Given the description of an element on the screen output the (x, y) to click on. 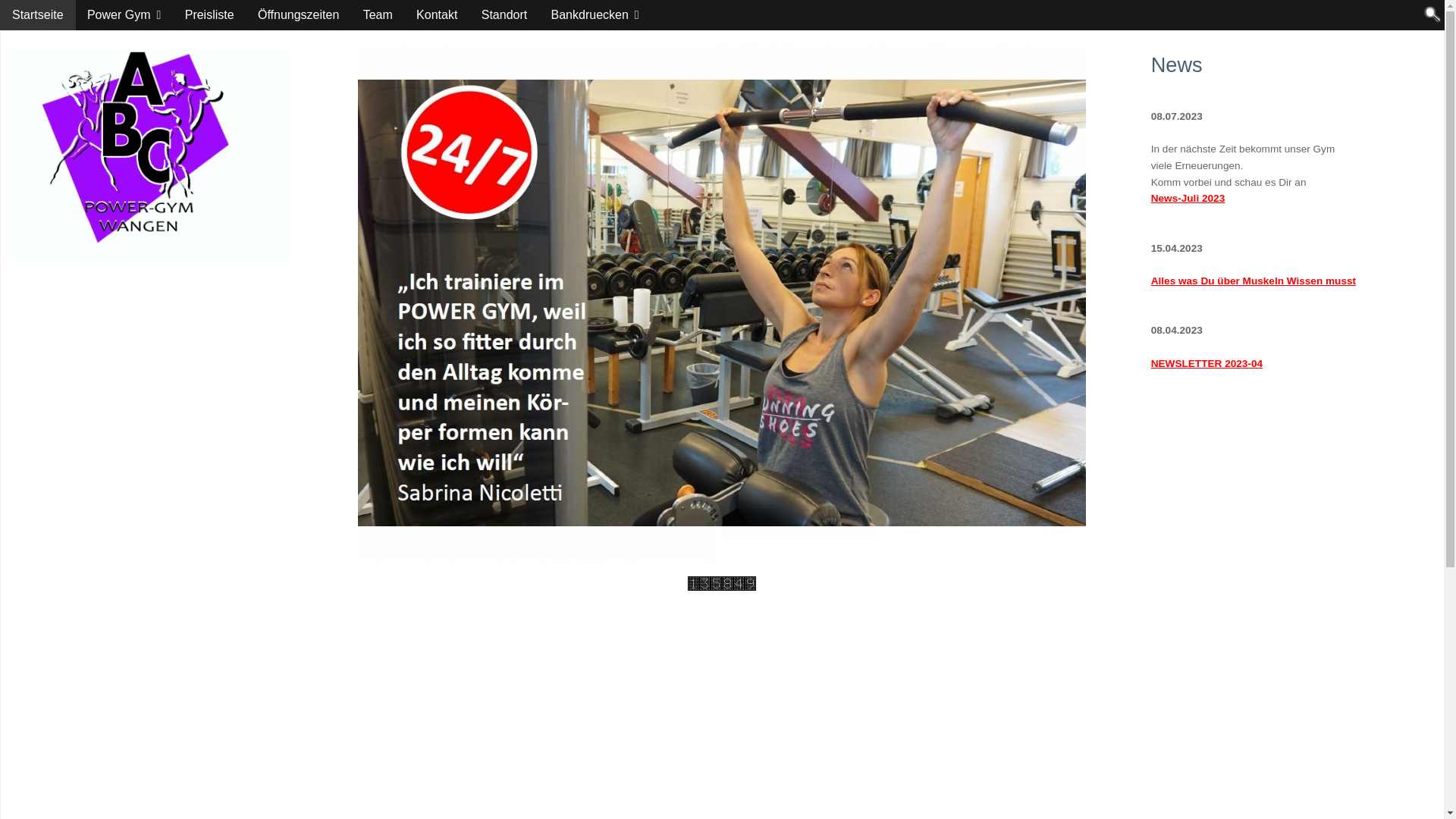
Standort Element type: text (504, 15)
Kontakt Element type: text (436, 15)
Bankdruecken Element type: text (595, 15)
Power Gym Element type: text (123, 15)
Startseite Element type: text (37, 15)
ABC Flyer-2022 10 Element type: hover (721, 303)
Suchen Element type: hover (1432, 14)
Team Element type: text (377, 15)
Preisliste Element type: text (209, 15)
News-Juli 2023 Element type: text (1187, 197)
NEWSLETTER 2023-04 Element type: text (1206, 363)
